Given the description of an element on the screen output the (x, y) to click on. 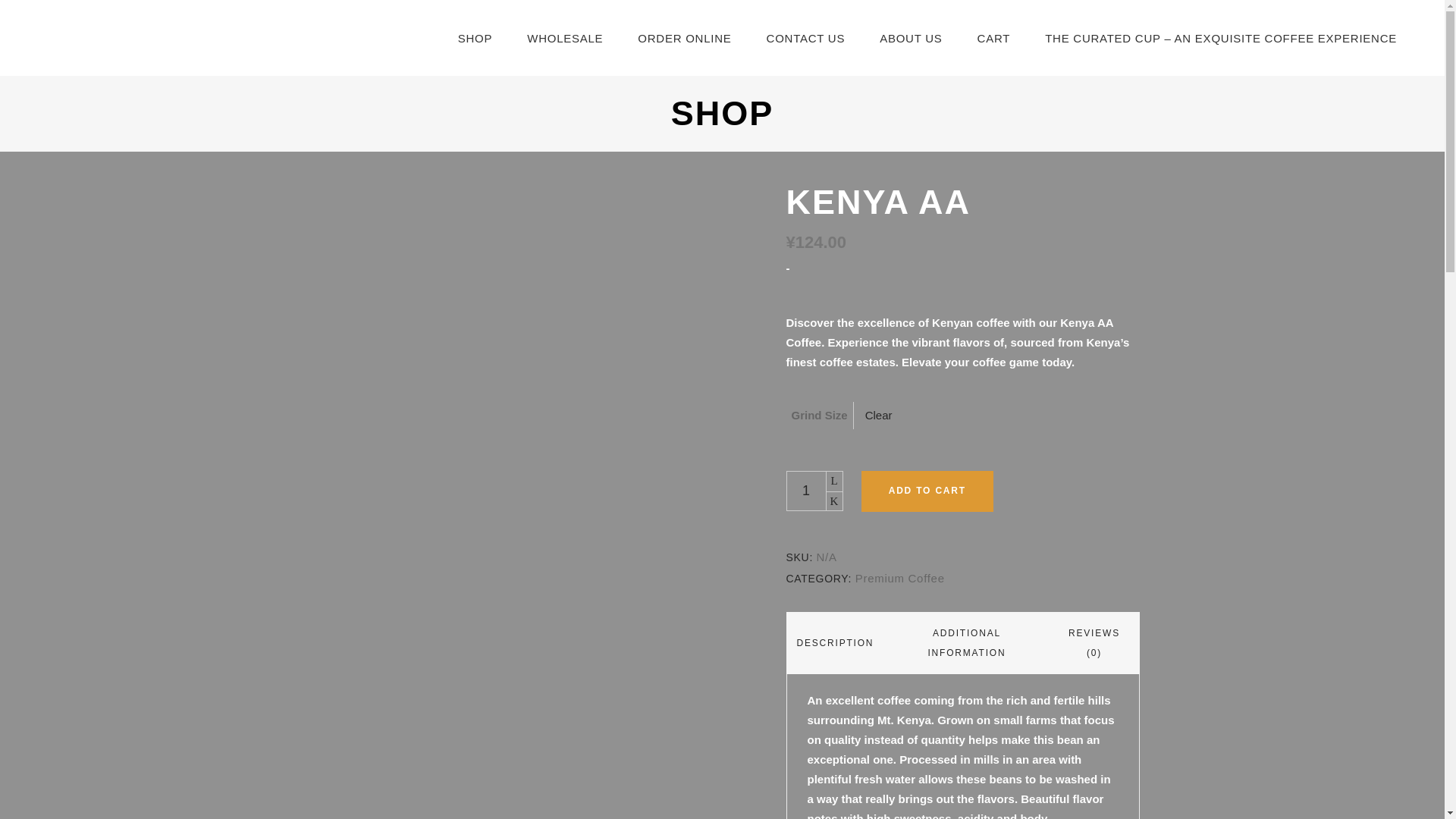
Qty (805, 490)
CART (993, 38)
ADDITIONAL INFORMATION (965, 642)
WHOLESALE (564, 38)
1 (805, 490)
DESCRIPTION (834, 642)
CONTACT US (806, 38)
ADD TO CART (926, 490)
SHOP (476, 38)
ABOUT US (910, 38)
ORDER ONLINE (684, 38)
Clear (878, 414)
Premium Coffee (900, 577)
